Given the description of an element on the screen output the (x, y) to click on. 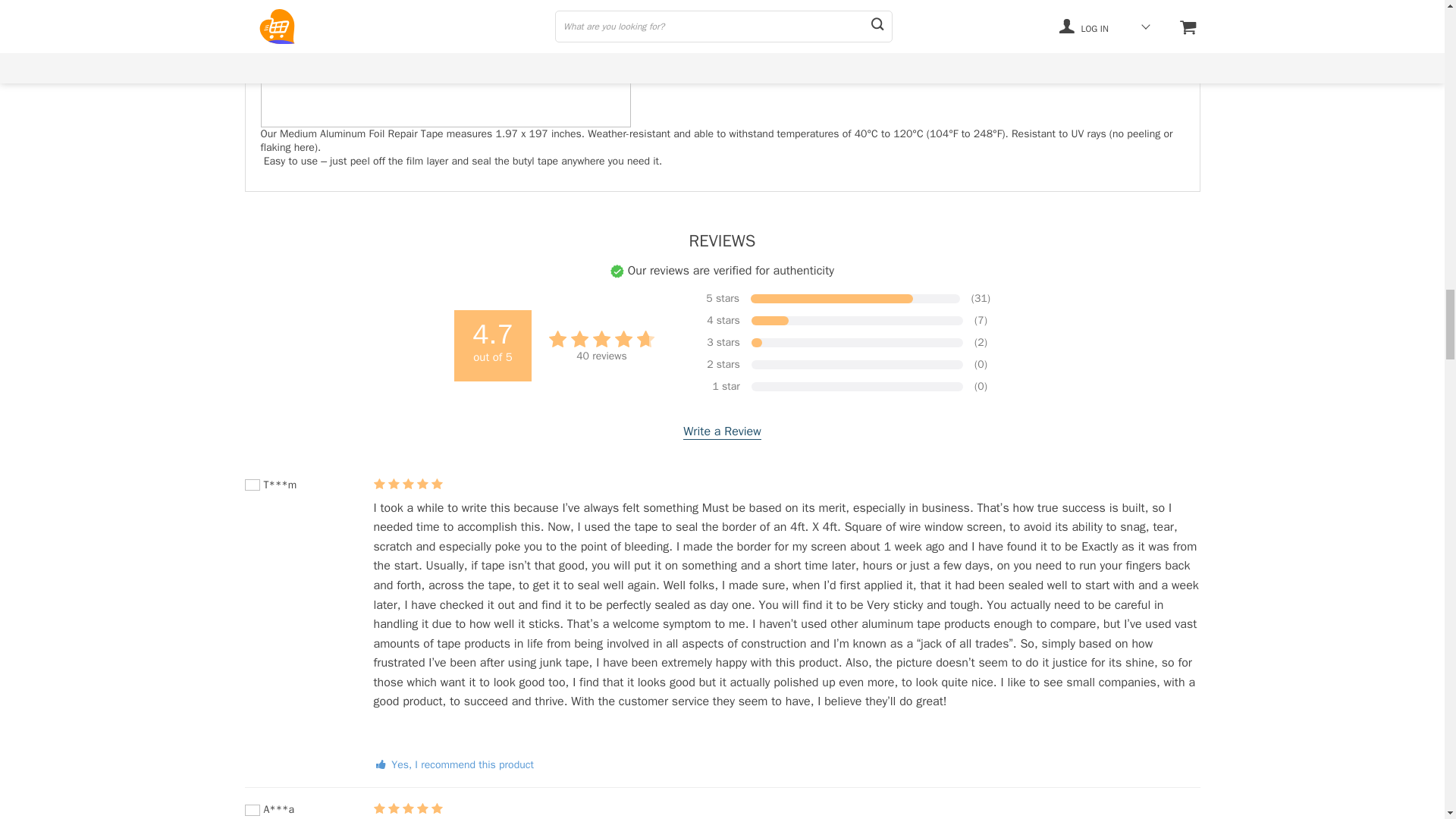
2 (445, 63)
